Given the description of an element on the screen output the (x, y) to click on. 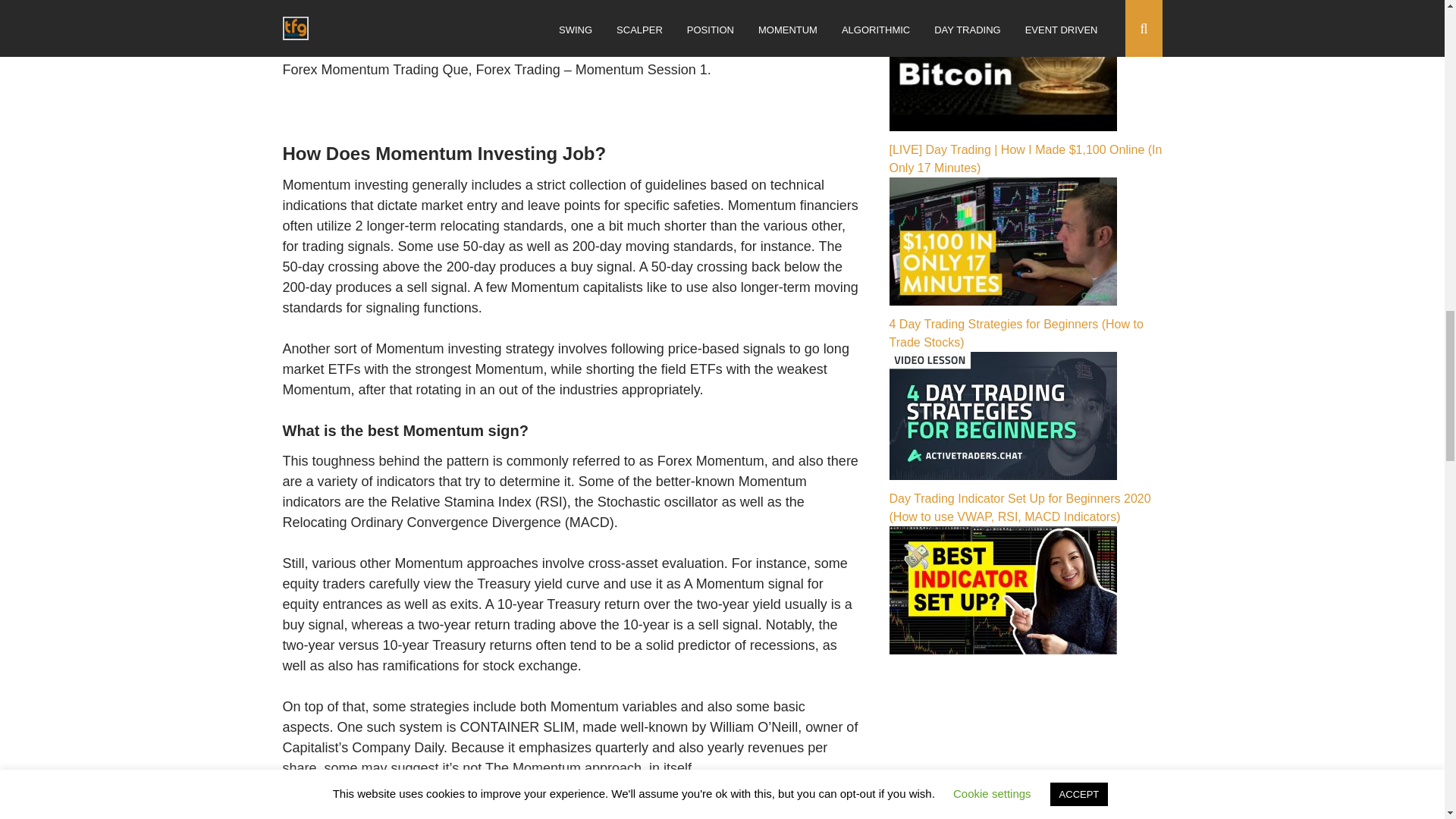
Day Trading Bitcoin: For Beginners (1002, 126)
